Given the description of an element on the screen output the (x, y) to click on. 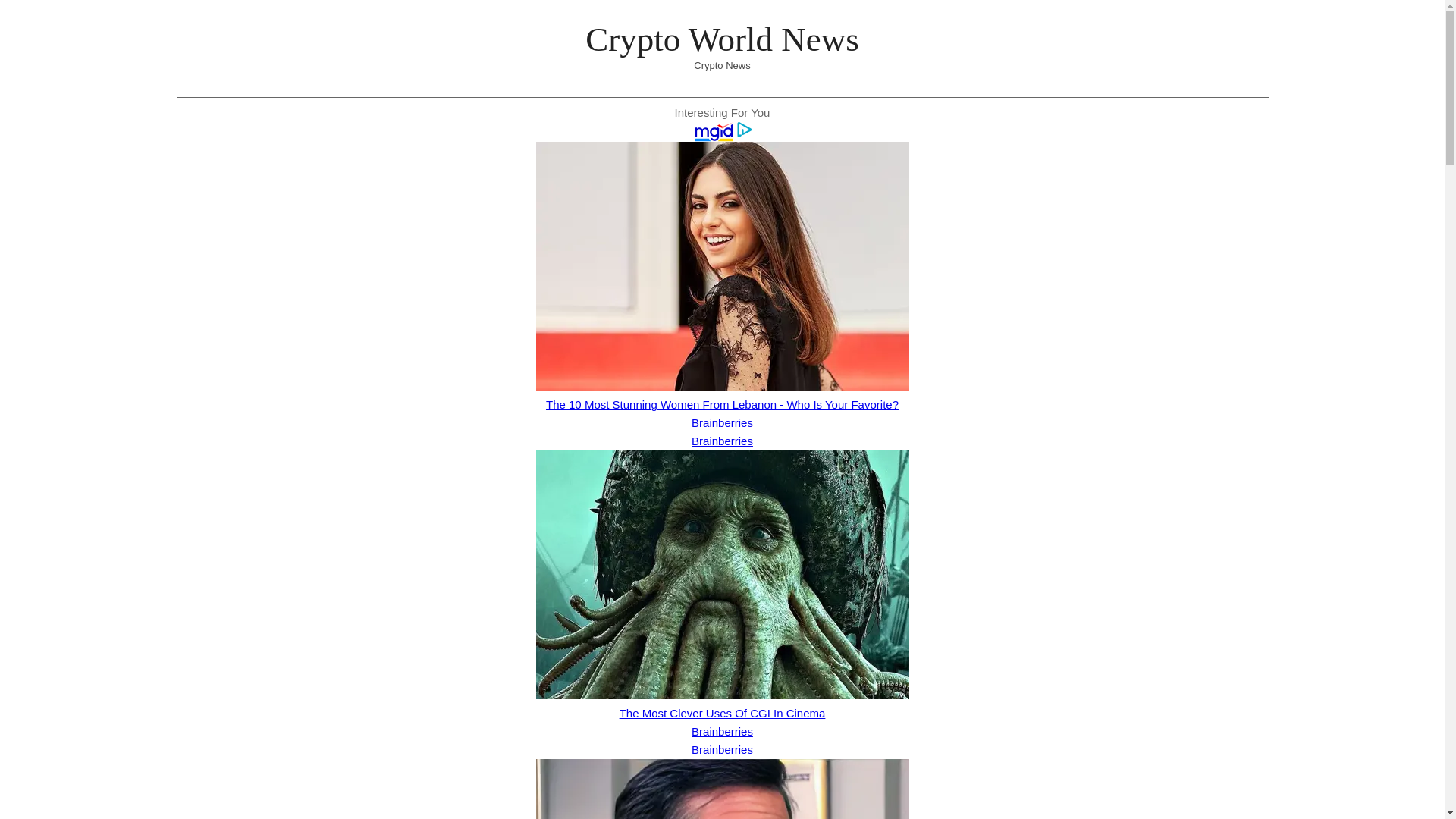
Crypto World News (722, 39)
